Given the description of an element on the screen output the (x, y) to click on. 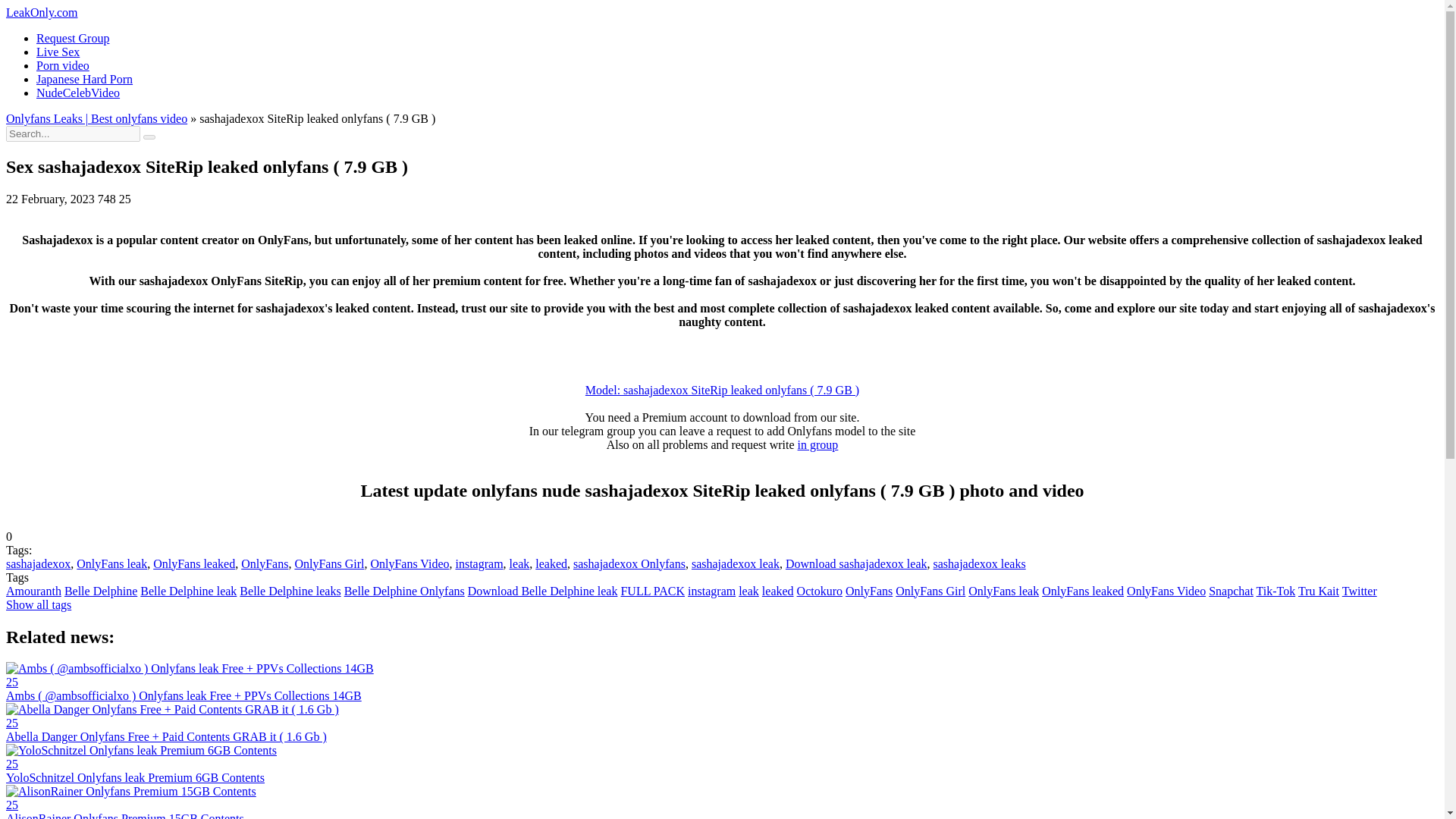
leaked (777, 590)
sashajadexox Onlyfans (629, 563)
FULL PACK (652, 590)
Japanese Hard Porn (84, 78)
Publication found: 23934 (930, 590)
sashajadexox leaks (979, 563)
Amouranth (33, 590)
Publication found: 22 (403, 590)
Belle Delphine leak (187, 590)
Octokuro (819, 590)
